Given the description of an element on the screen output the (x, y) to click on. 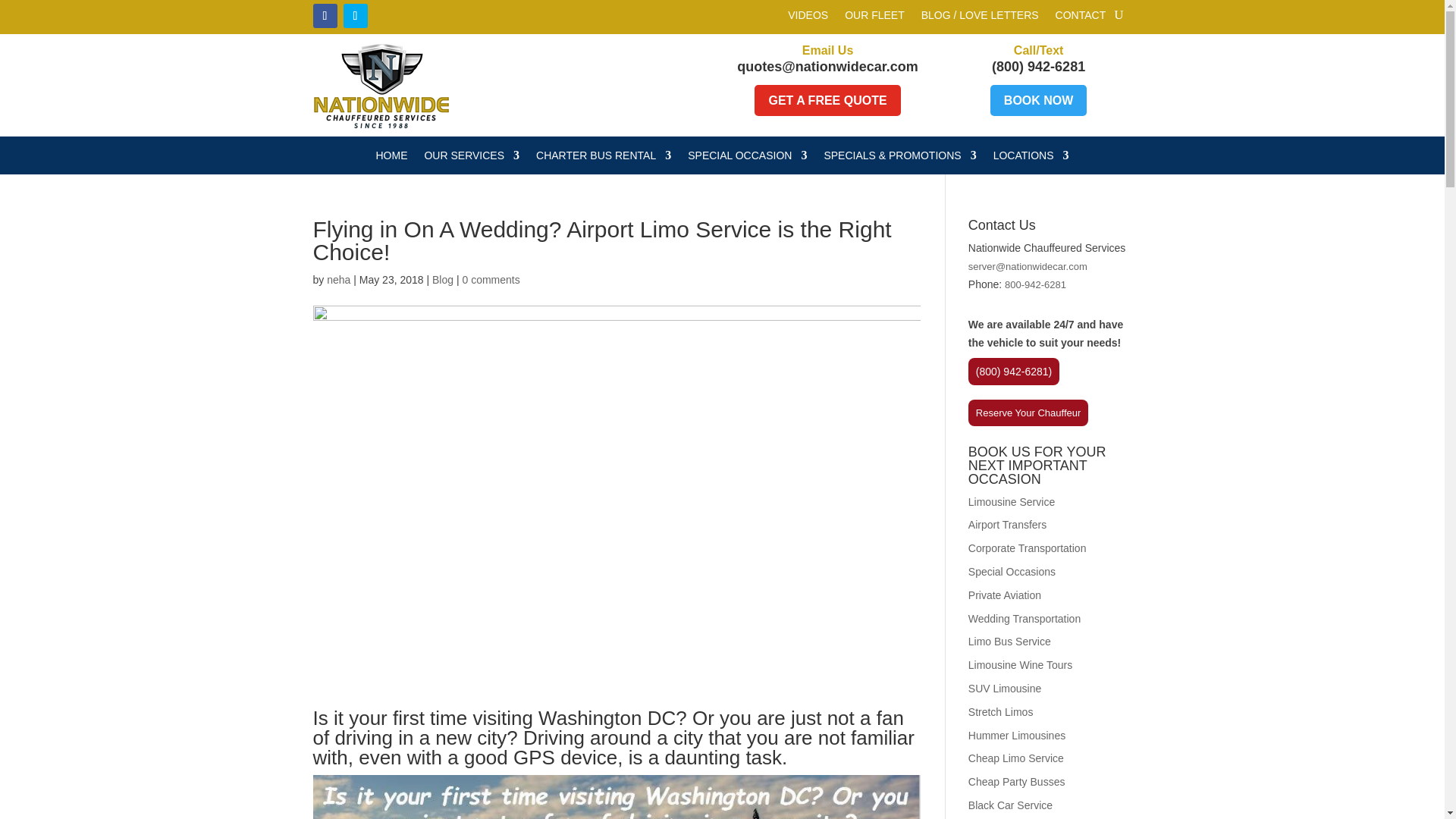
OUR SERVICES (471, 158)
VIDEOS (807, 17)
GET A FREE QUOTE (826, 100)
OUR FLEET (874, 17)
HOME (391, 158)
Follow on Twitter (354, 15)
CHARTER BUS RENTAL (603, 158)
BOOK NOW (1038, 100)
CONTACT (1080, 17)
Posts by neha (338, 279)
Nationwide Car (380, 84)
Follow on Facebook (324, 15)
